Given the description of an element on the screen output the (x, y) to click on. 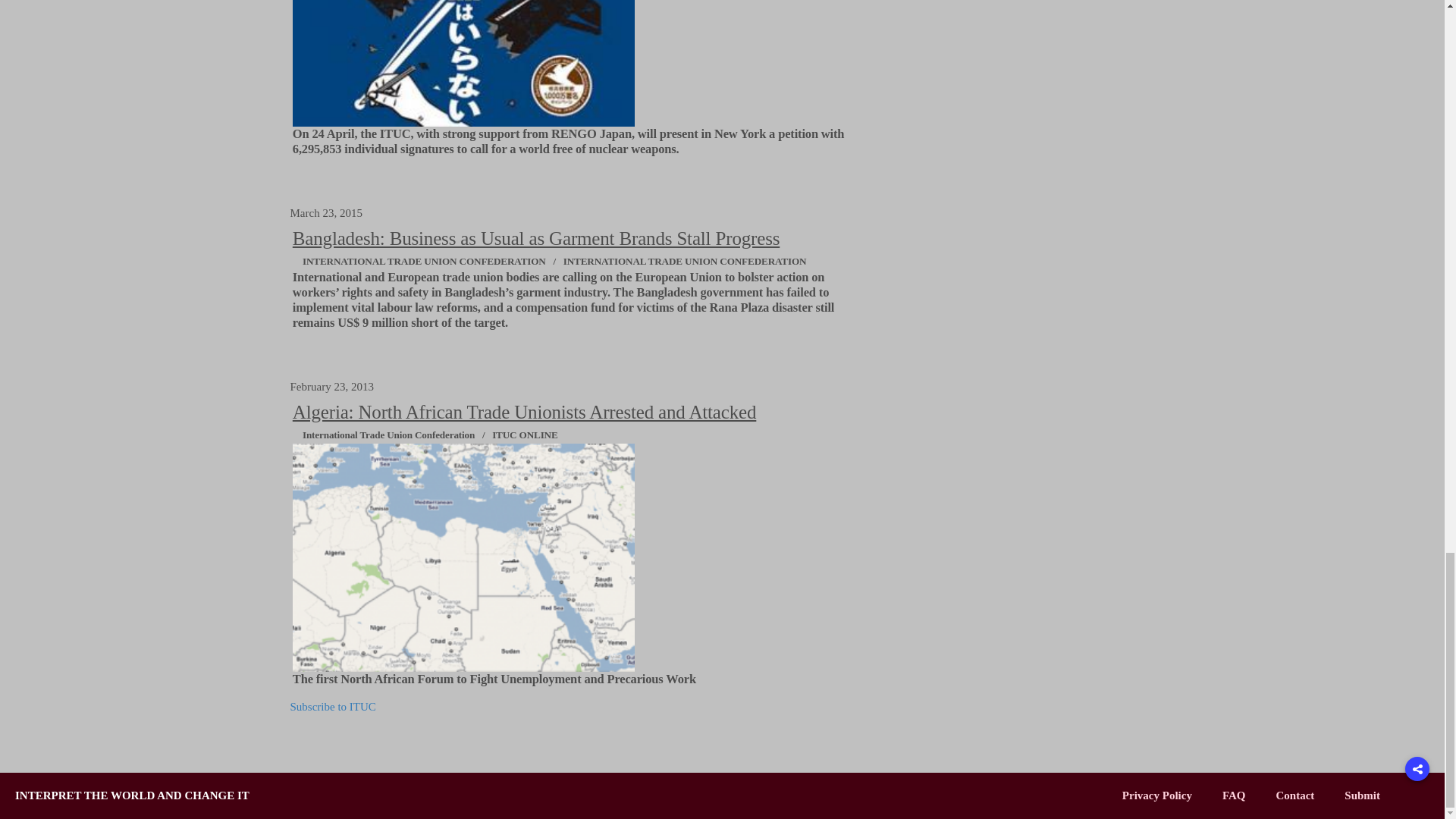
Algeria: North African Trade Unionists Arrested and Attacked (524, 412)
Contact (1294, 795)
Frequently Asked Questions (1234, 795)
FAQ (1234, 795)
Submit (1361, 795)
Submit an article to Portside (1361, 795)
INTERPRET THE WORLD AND CHANGE IT (131, 795)
Subscribe to ITUC (332, 706)
Privacy Policy (1157, 795)
